Given the description of an element on the screen output the (x, y) to click on. 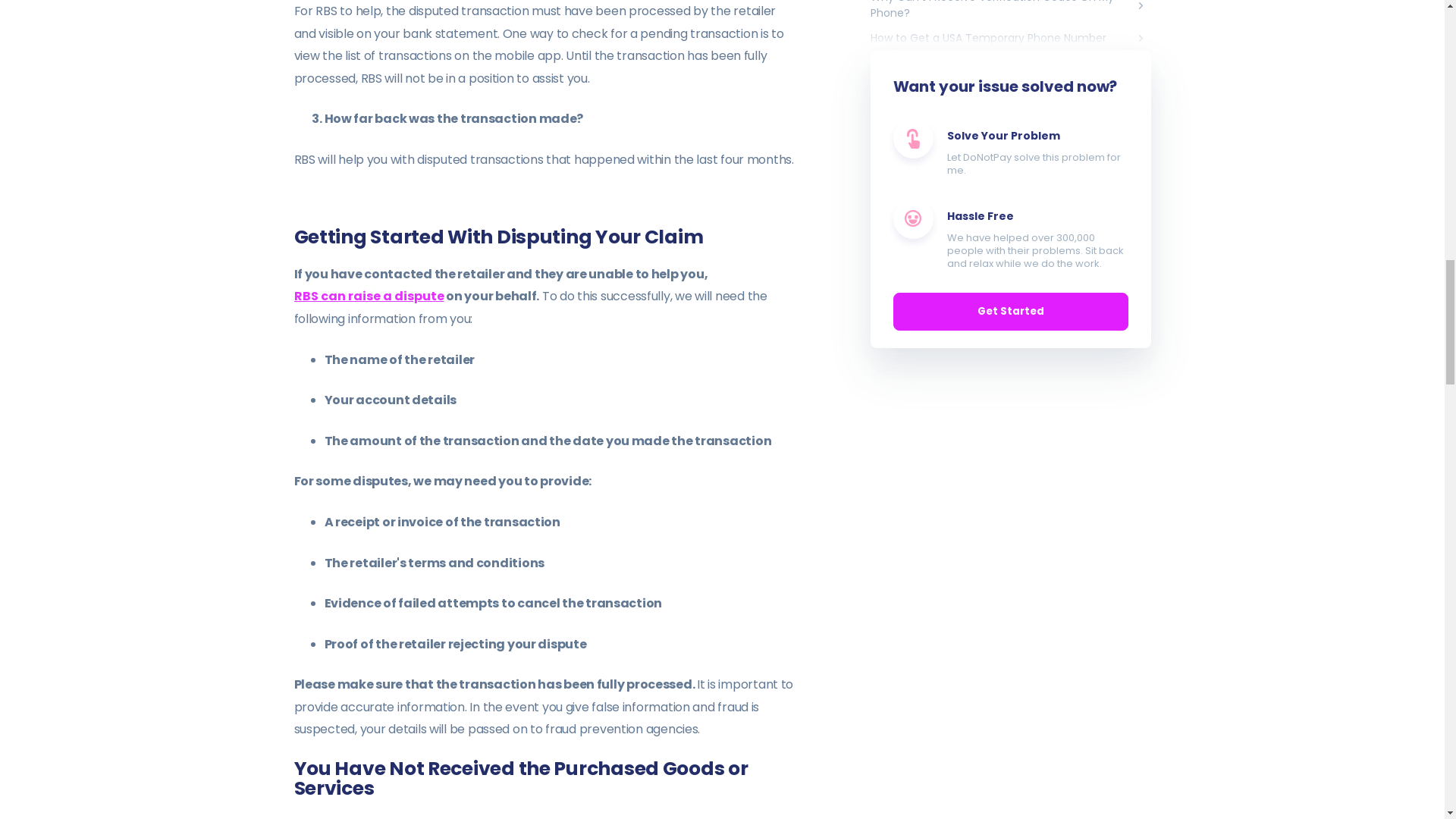
RBS can raise a dispute (369, 295)
